Given the description of an element on the screen output the (x, y) to click on. 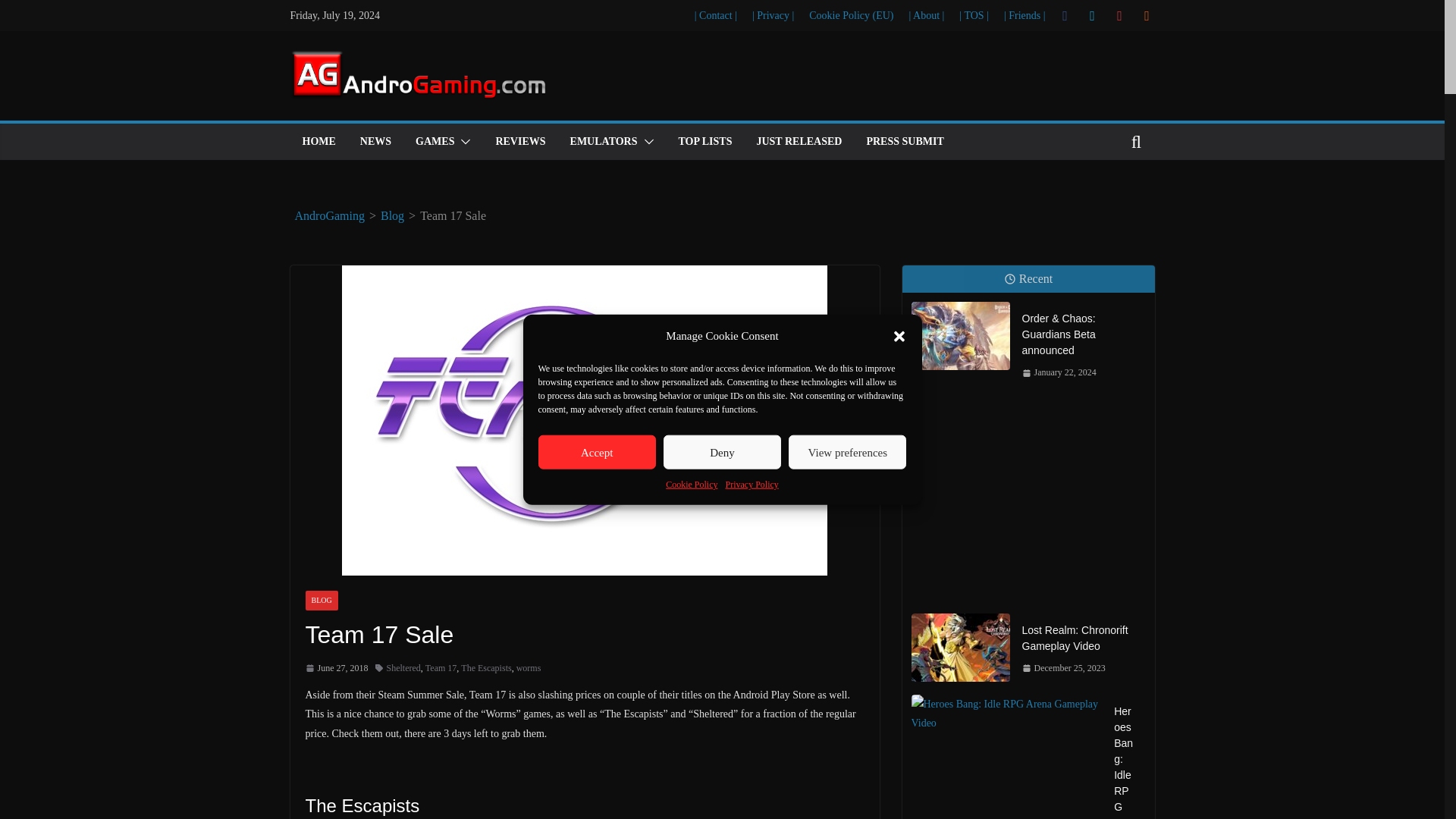
5:53 pm (336, 668)
Go to AndroGaming. (329, 215)
GAMES (434, 141)
HOME (317, 141)
Accept (597, 451)
Deny (721, 451)
NEWS (375, 141)
View preferences (847, 451)
Go to the Blog Category archives. (392, 215)
Privacy Policy (751, 484)
Cookie Policy (691, 484)
